Given the description of an element on the screen output the (x, y) to click on. 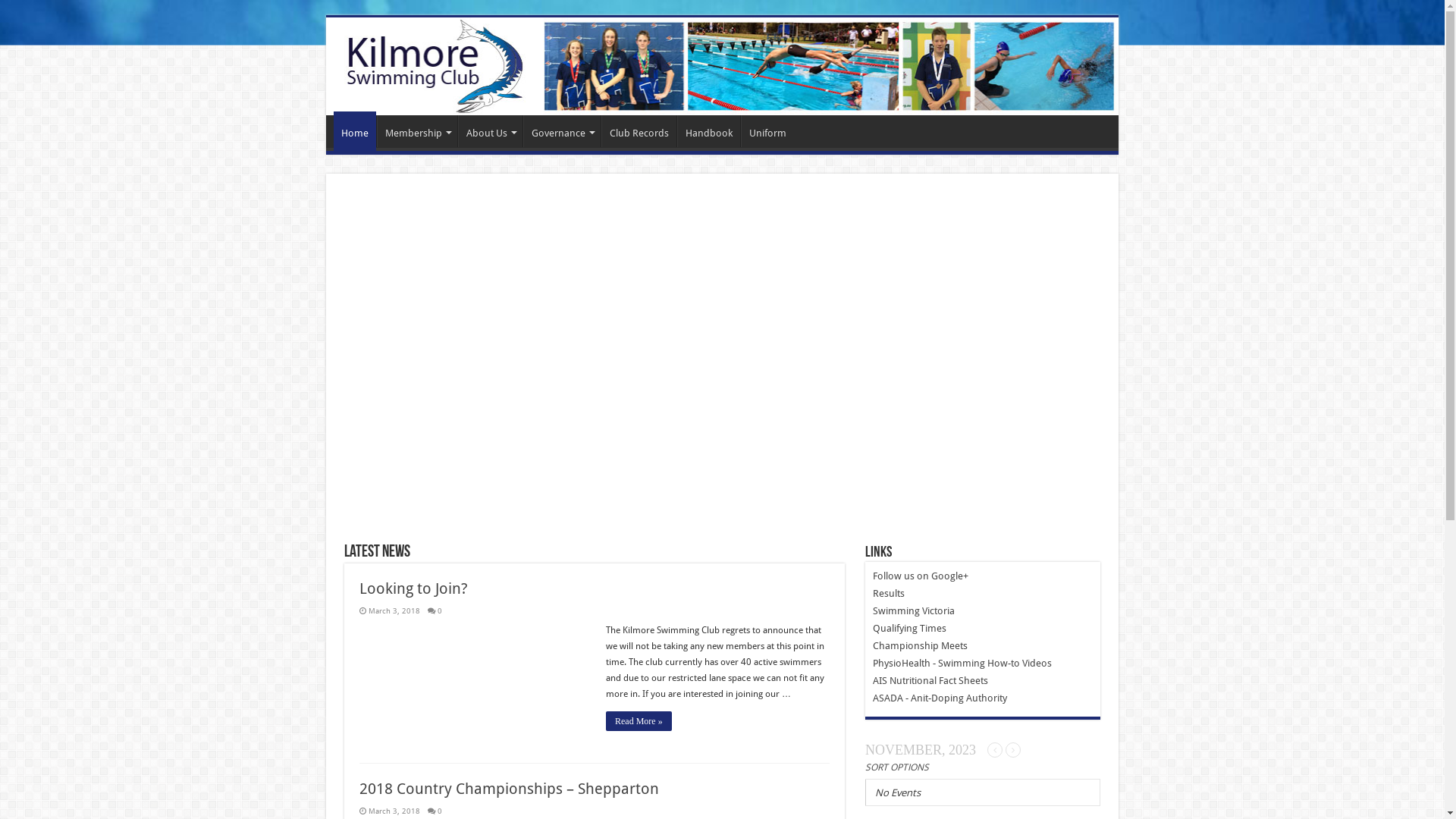
Championship Meets Element type: text (919, 645)
Home Element type: text (354, 130)
Swimming Victoria Element type: text (913, 610)
Handbook Element type: text (708, 131)
0 Element type: text (439, 810)
SORT OPTIONS Element type: text (896, 765)
Results Element type: text (888, 592)
Follow us on Google+ Element type: text (920, 575)
Club Records Element type: text (638, 131)
0 Element type: text (439, 609)
Looking to Join? Element type: text (413, 588)
Membership Element type: text (416, 131)
Qualifying Times Element type: text (909, 627)
Uniform Element type: text (766, 131)
AIS Nutritional Fact Sheets Element type: text (930, 680)
About Us Element type: text (490, 131)
Kilmore Swimming Club Element type: hover (722, 66)
Governance Element type: text (561, 131)
ASADA - Anit-Doping Authority Element type: text (939, 696)
PhysioHealth - Swimming How-to Videos Element type: text (961, 662)
